Given the description of an element on the screen output the (x, y) to click on. 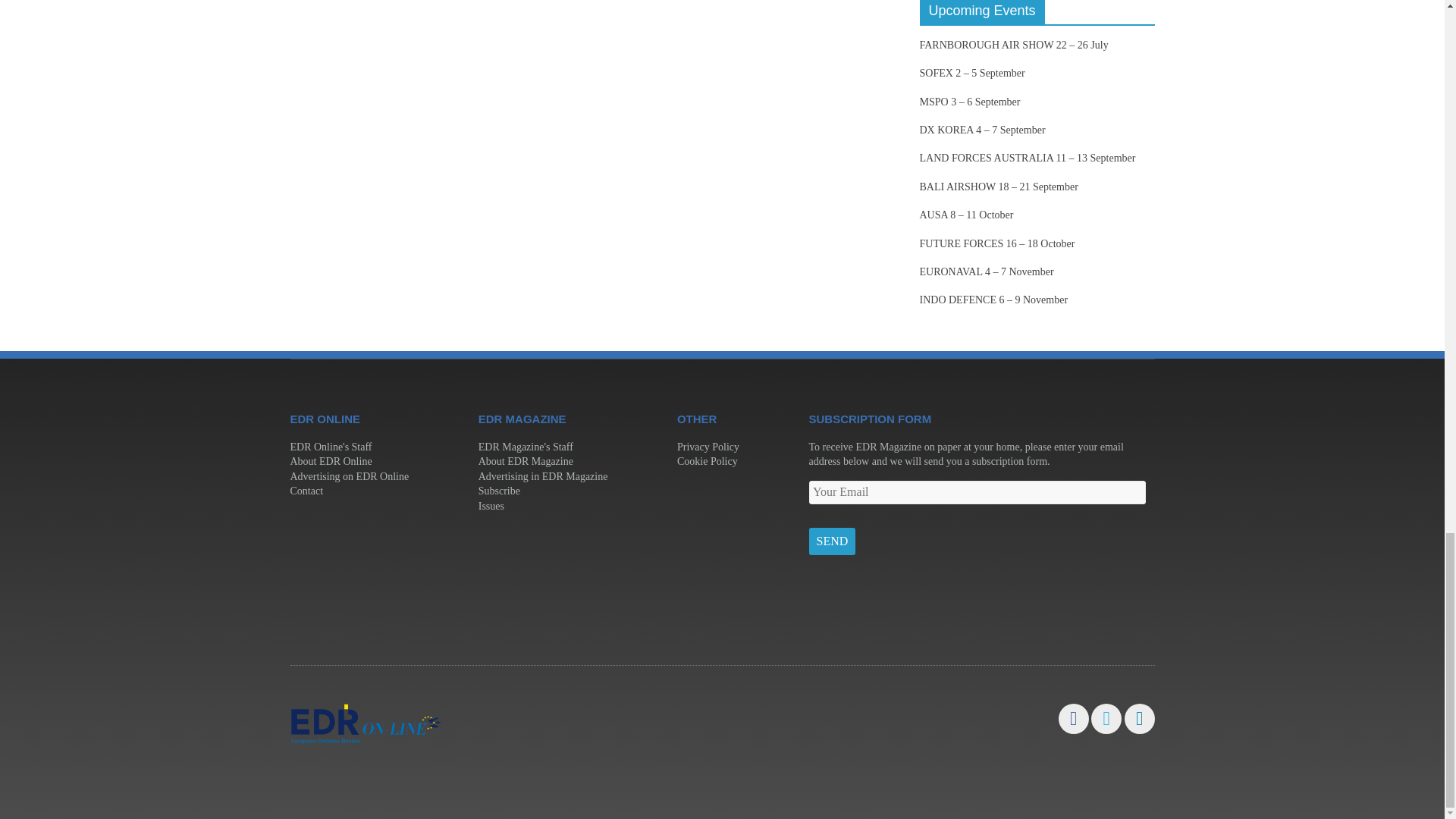
SEND (832, 541)
